Given the description of an element on the screen output the (x, y) to click on. 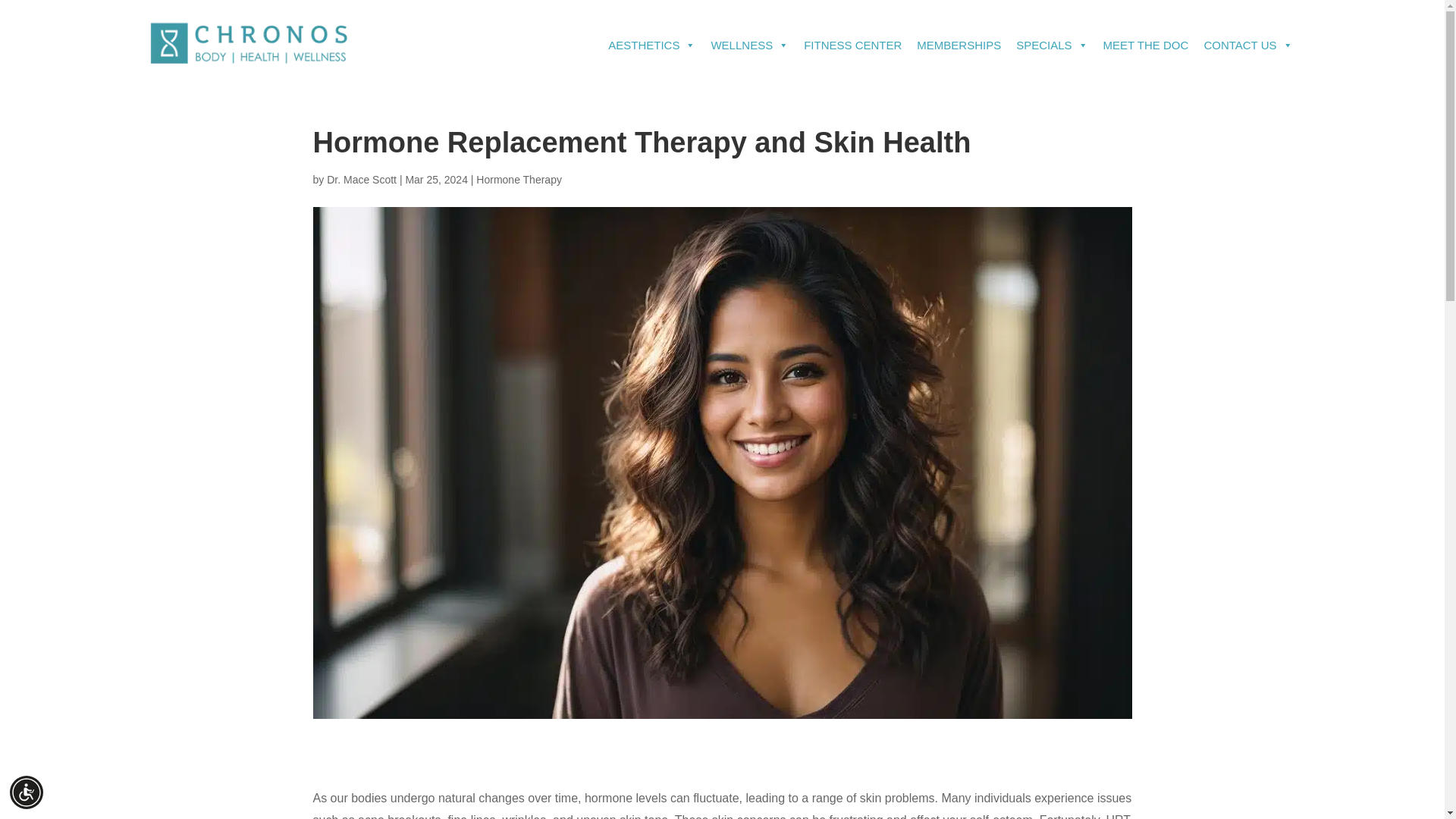
MEET THE DOC (1146, 45)
AESTHETICS (651, 45)
CONTACT US (1247, 45)
Accessibility Menu (26, 792)
WELLNESS (749, 45)
MEMBERSHIPS (958, 45)
FITNESS CENTER (852, 45)
SPECIALS (1051, 45)
Posts by Dr. Mace Scott (361, 179)
